Given the description of an element on the screen output the (x, y) to click on. 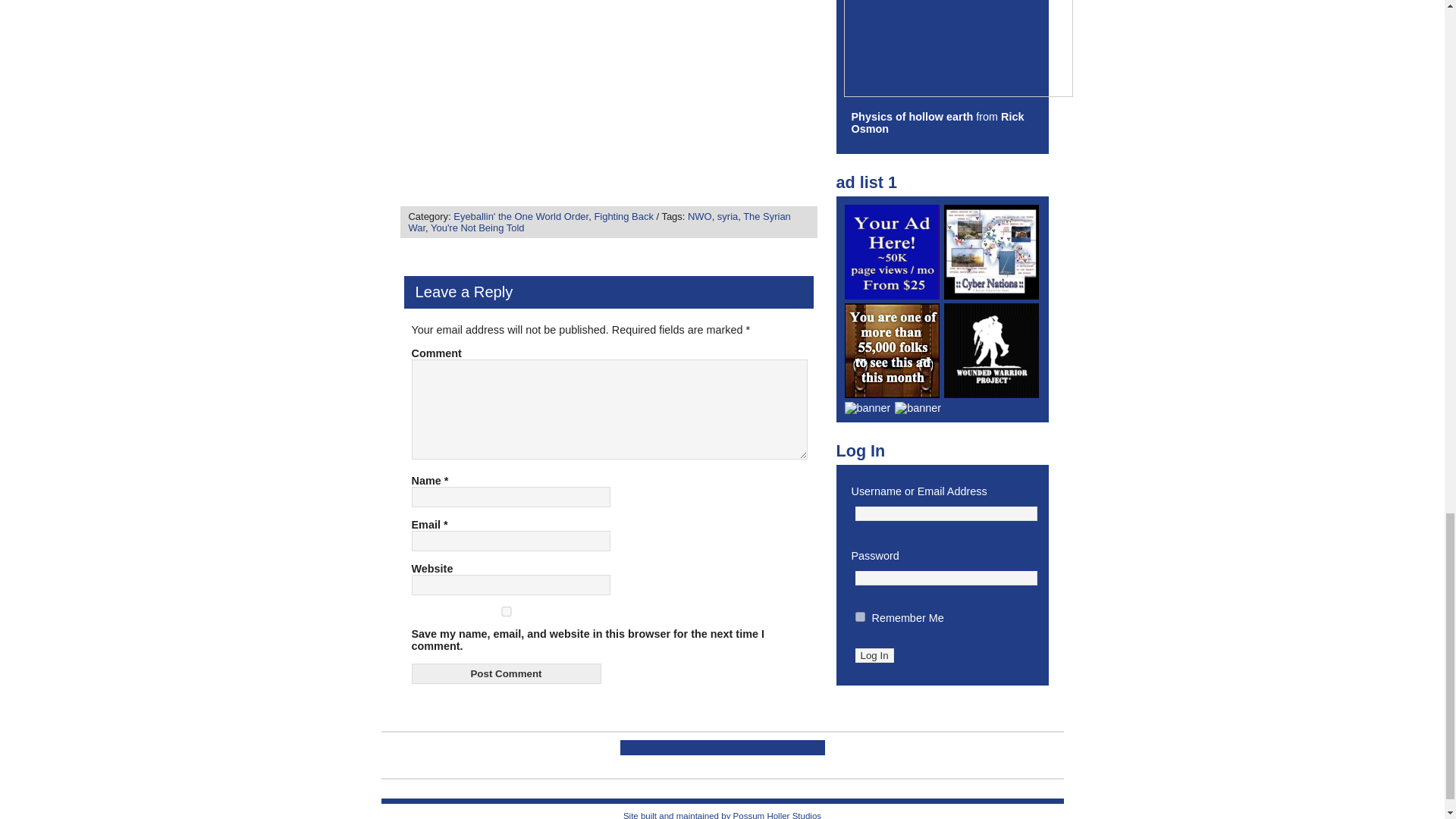
Post Comment (504, 673)
yes (504, 611)
syria (727, 215)
You're Not Being Told (477, 227)
Log In (874, 655)
Physics of Hollow Earth (911, 116)
NWO (699, 215)
Post Comment (504, 673)
Fighting Back (623, 215)
The Syrian War (598, 221)
forever (860, 616)
Eyeballin' the One World Order (520, 215)
